Given the description of an element on the screen output the (x, y) to click on. 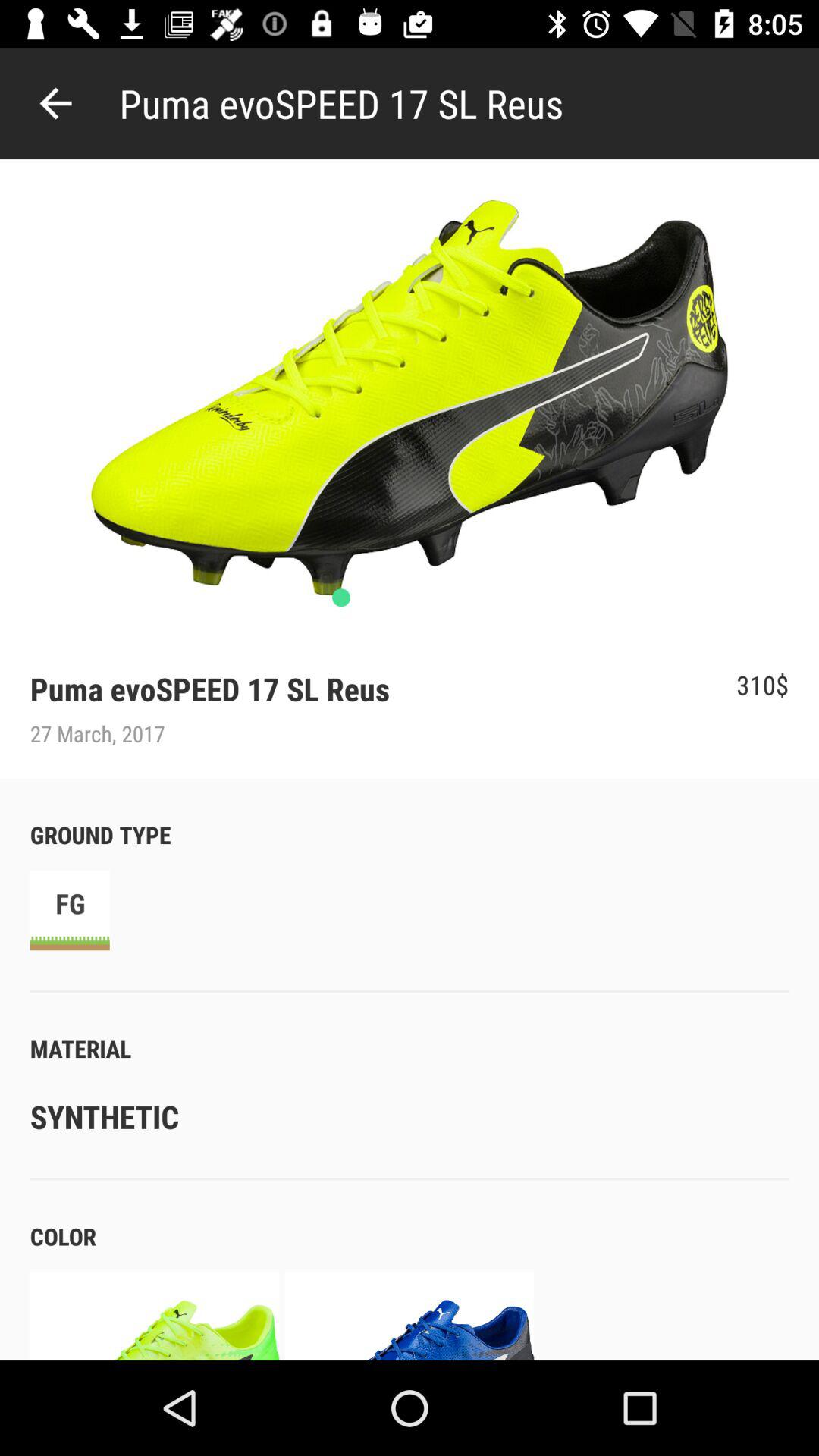
turn on item next to the puma evospeed 17 item (55, 103)
